Given the description of an element on the screen output the (x, y) to click on. 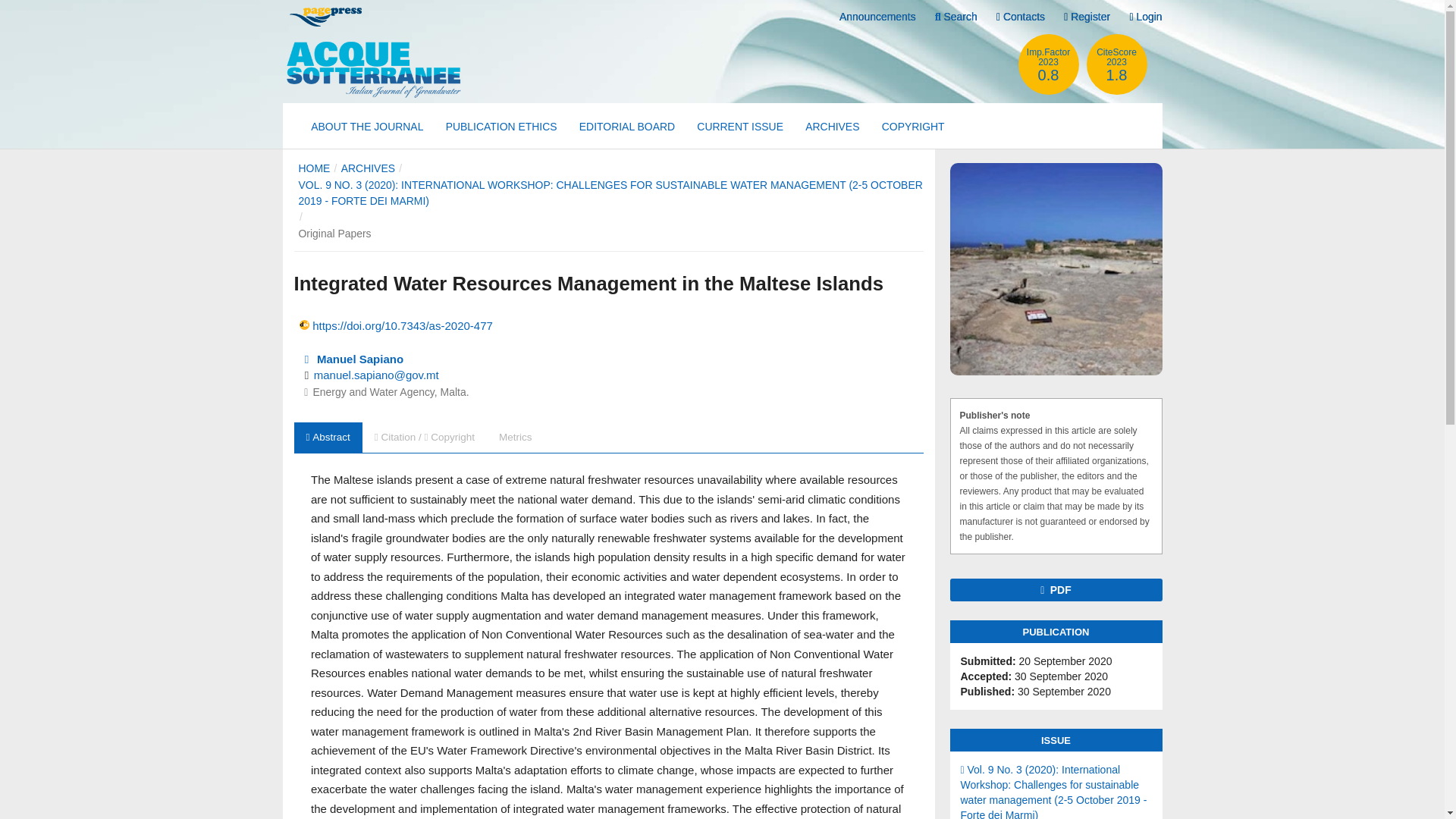
Publication (1055, 676)
PlumX Metrics (608, 356)
Abstract (328, 437)
CURRENT ISSUE (740, 125)
Announcements (877, 16)
Metrics (515, 437)
ABOUT THE JOURNAL (366, 125)
Login (1047, 64)
Manuel Sapiano (1145, 16)
ARCHIVES (351, 358)
Issue (367, 168)
COPYRIGHT (1055, 785)
Register (912, 125)
Search (1087, 16)
